Given the description of an element on the screen output the (x, y) to click on. 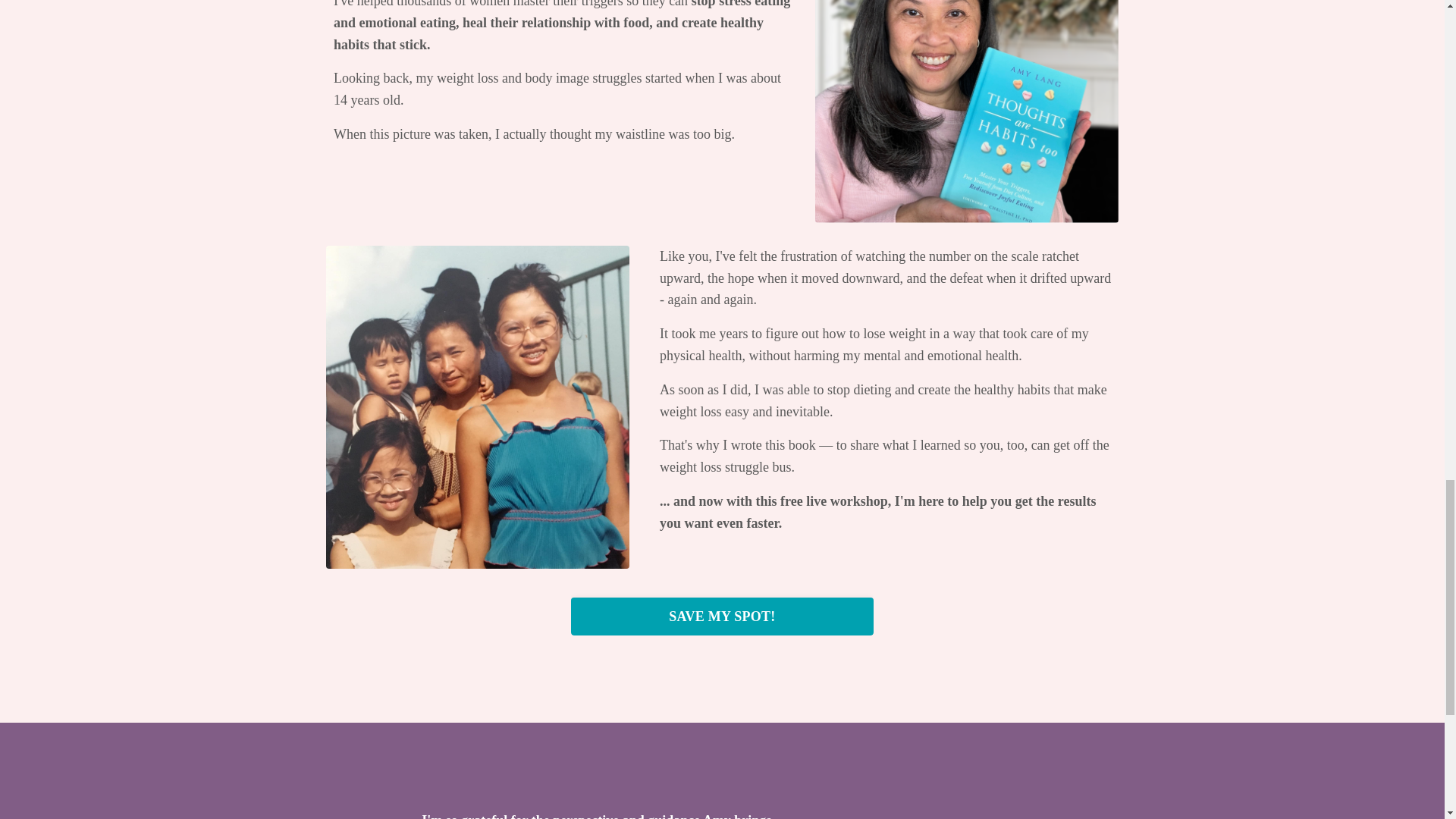
SAVE MY SPOT! (721, 616)
